Given the description of an element on the screen output the (x, y) to click on. 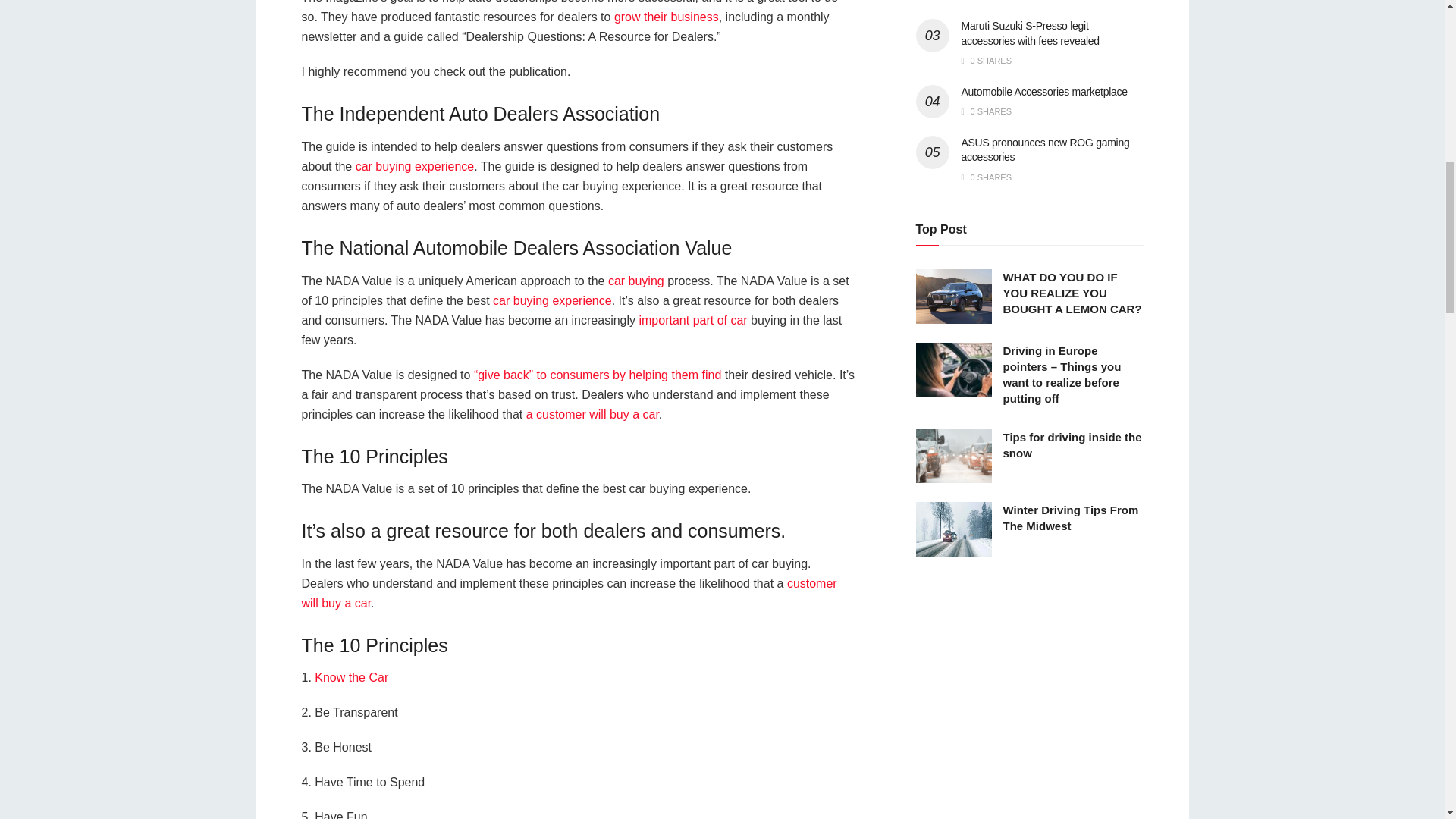
Which is Better Business Lease Or buying a Car? (592, 413)
What we know about the rumoured rotary sports car (351, 676)
